Given the description of an element on the screen output the (x, y) to click on. 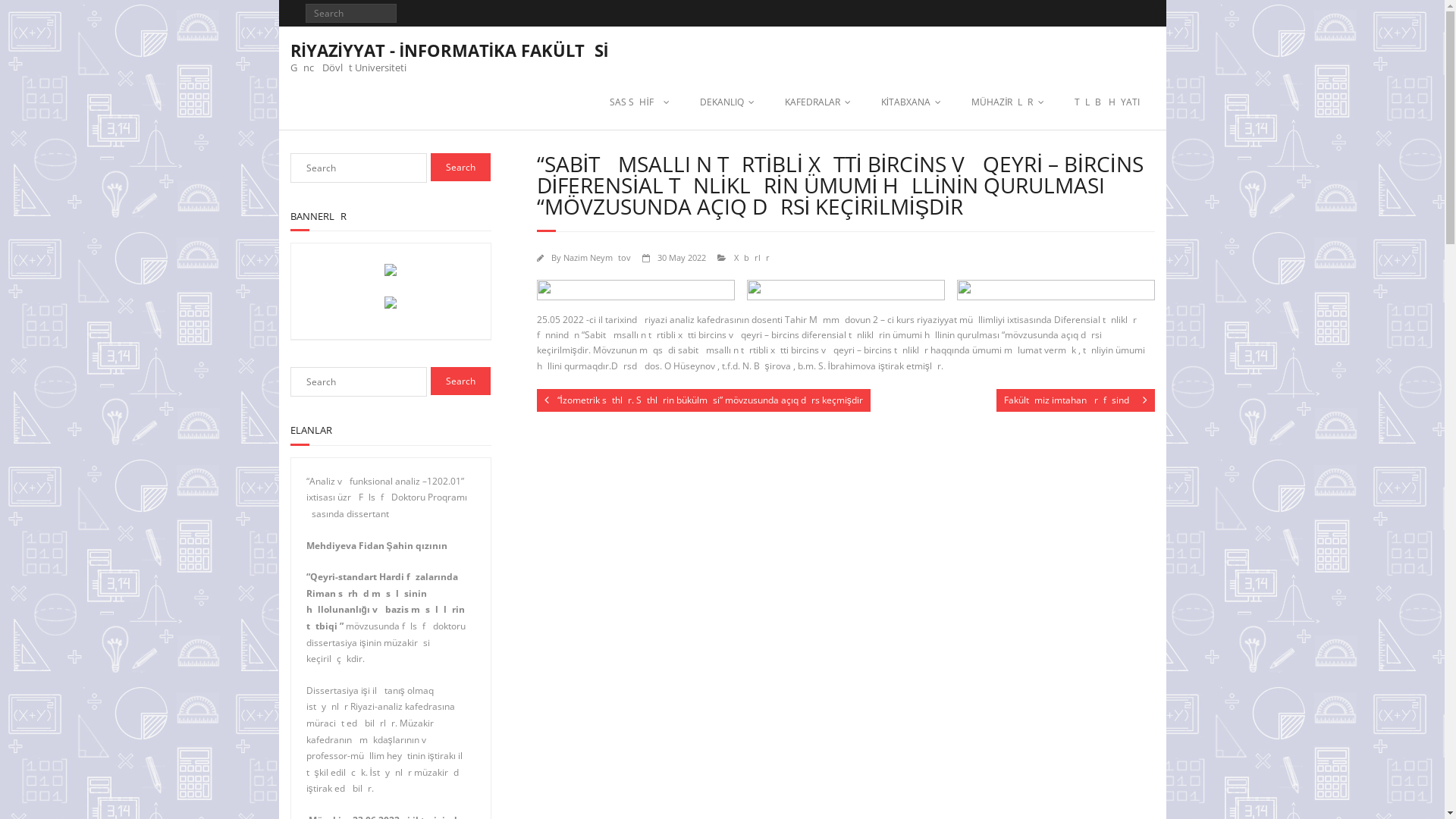
Search Element type: text (26, 14)
Search Element type: text (460, 381)
30 May 2022 Element type: text (680, 257)
DEKANLIQ Element type: text (726, 101)
Search Element type: text (460, 167)
KAFEDRALAR Element type: text (817, 101)
